Given the description of an element on the screen output the (x, y) to click on. 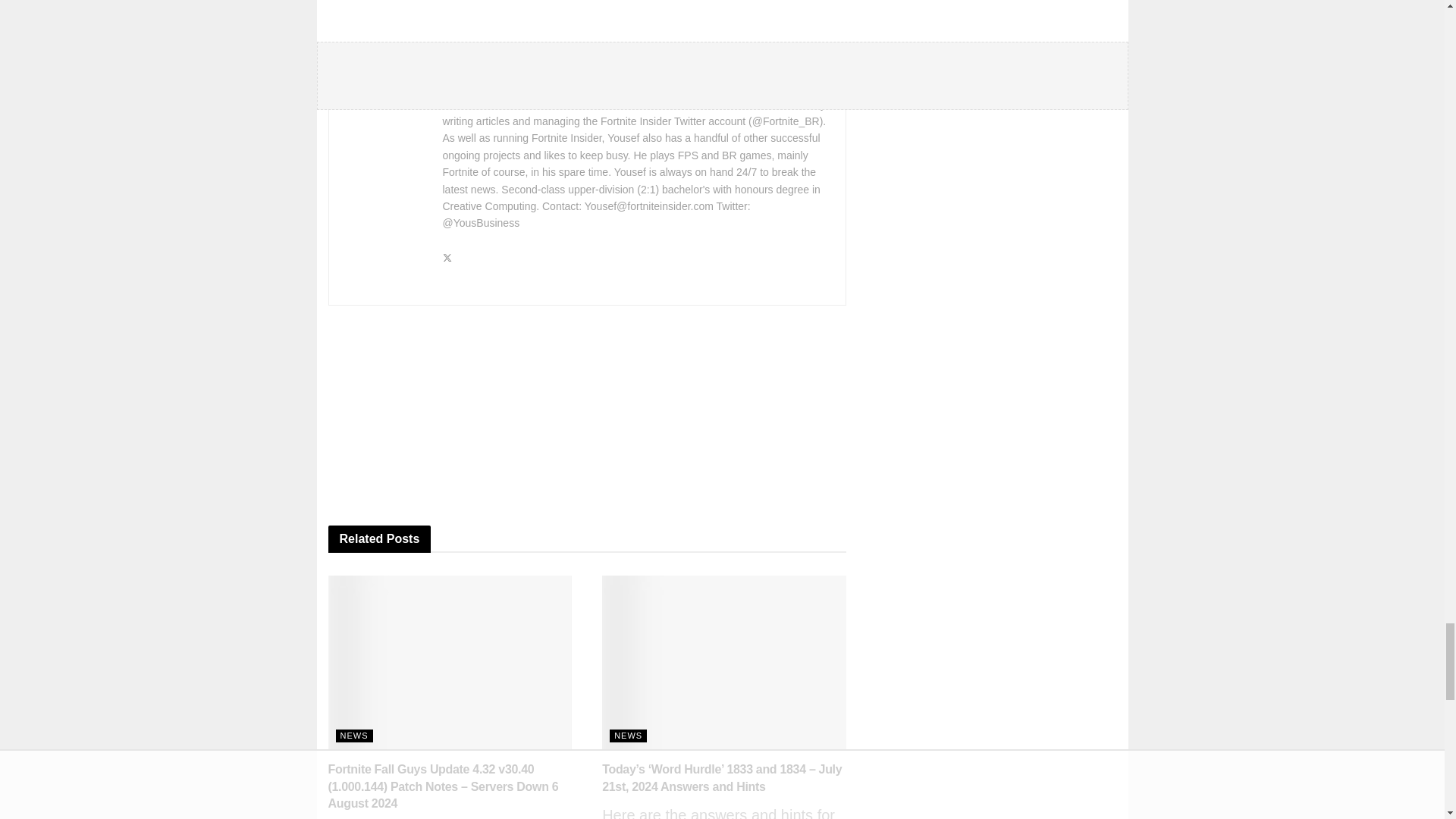
NEWS (628, 735)
Yousef Saifi (480, 77)
NEWS (353, 735)
